Given the description of an element on the screen output the (x, y) to click on. 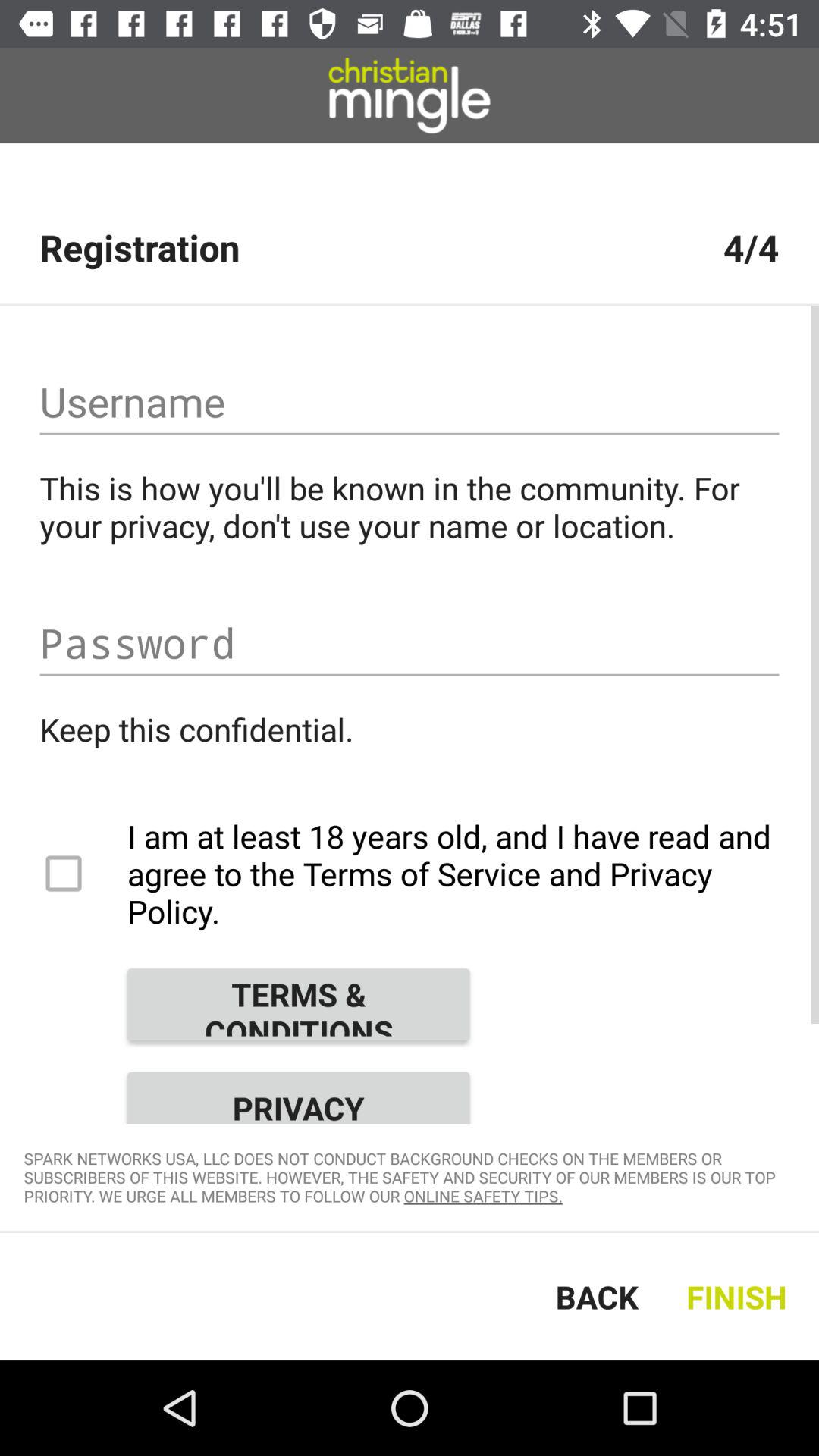
click on privacy button (298, 1091)
go to terms and condition (298, 1004)
click on password text box (409, 643)
select the text box which says username (409, 401)
click on the text which is right of the text back (740, 1296)
